Given the description of an element on the screen output the (x, y) to click on. 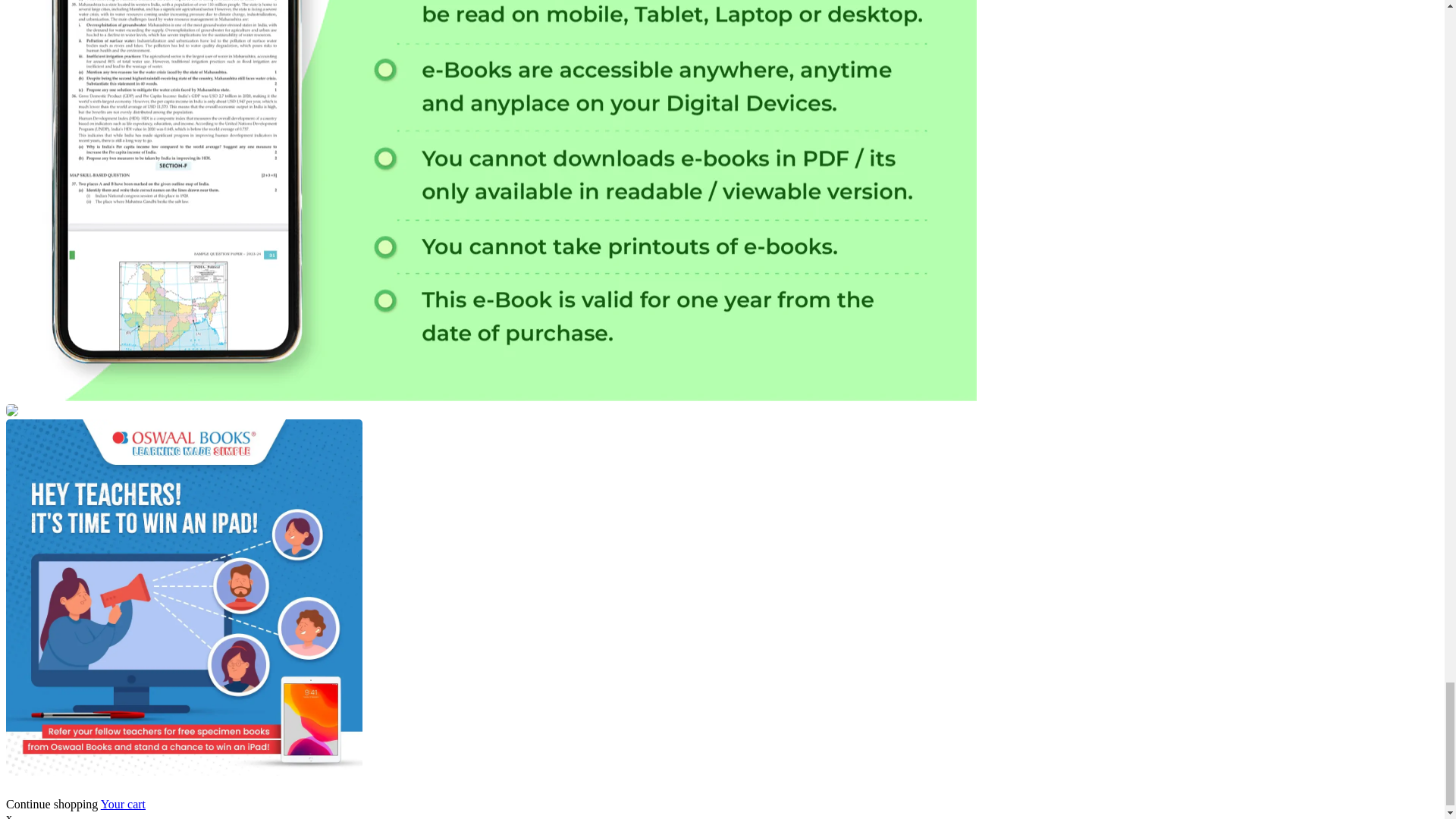
Oswaal Books (11, 411)
Oswaal Books (183, 771)
